Given the description of an element on the screen output the (x, y) to click on. 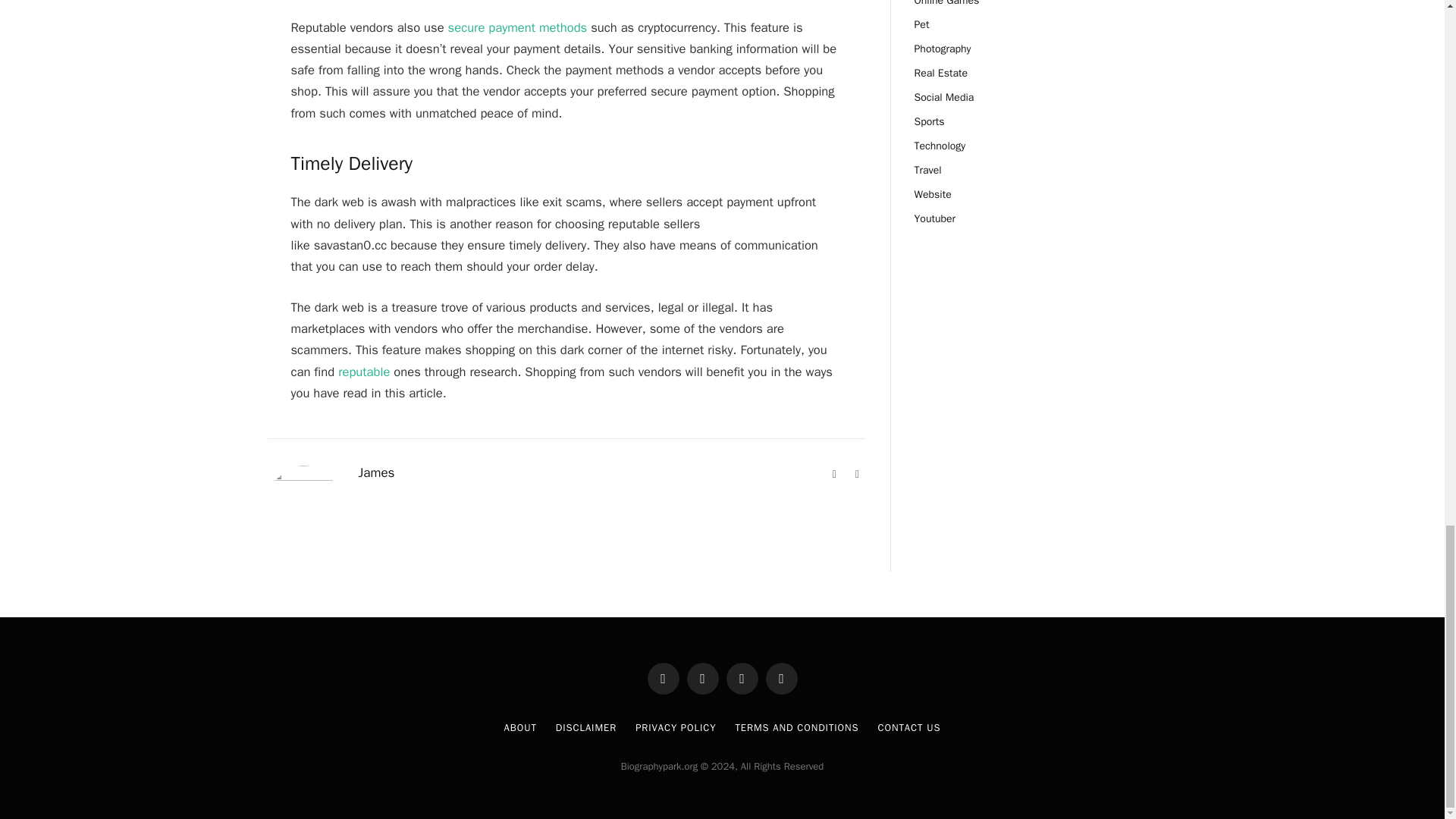
Facebook (856, 474)
Facebook (856, 474)
Website (834, 474)
secure payment methods (518, 27)
reputable (363, 371)
James (376, 473)
Website (834, 474)
Posts by James (376, 473)
